Given the description of an element on the screen output the (x, y) to click on. 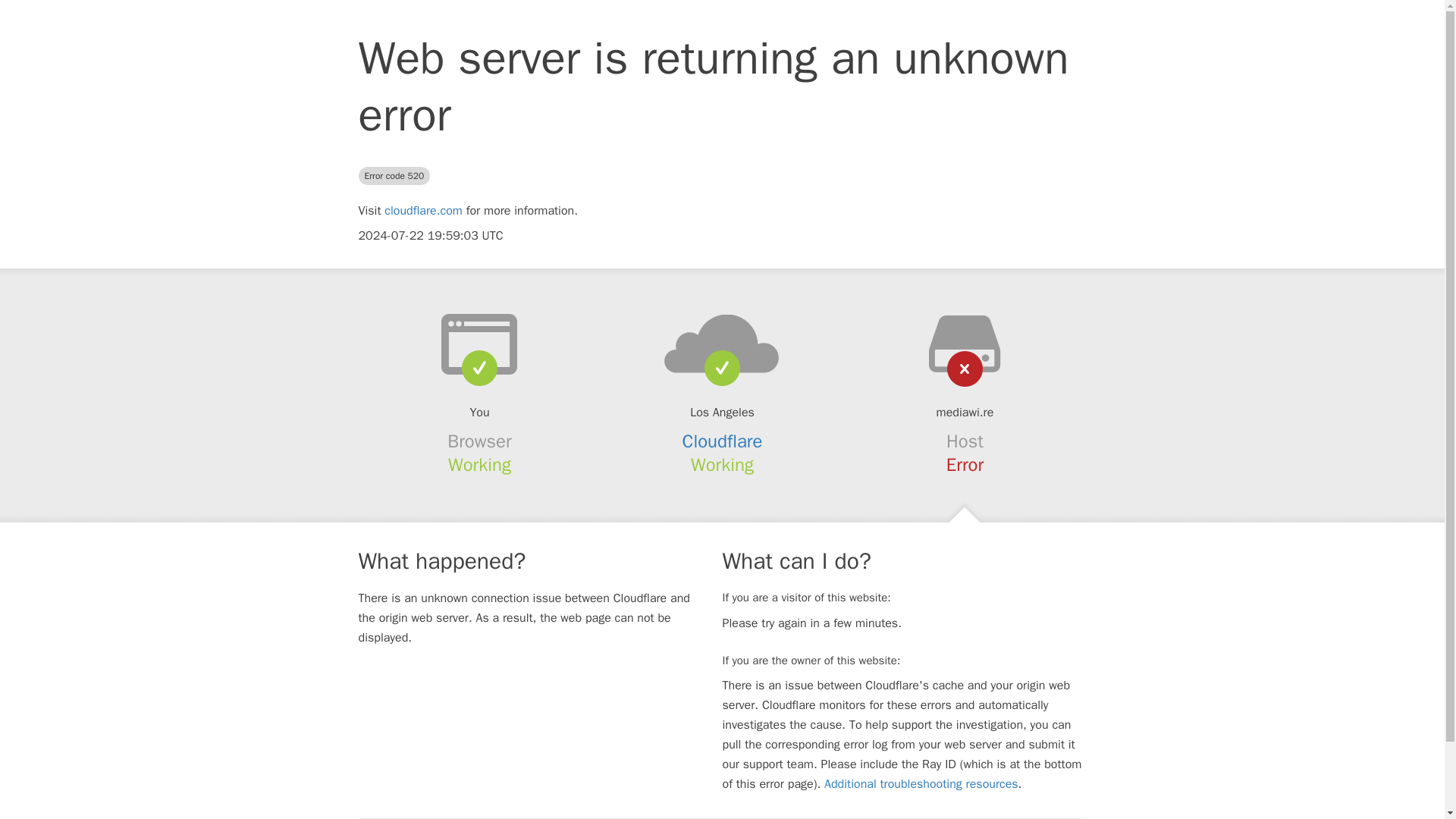
Cloudflare (722, 440)
Additional troubleshooting resources (920, 783)
cloudflare.com (423, 210)
